Given the description of an element on the screen output the (x, y) to click on. 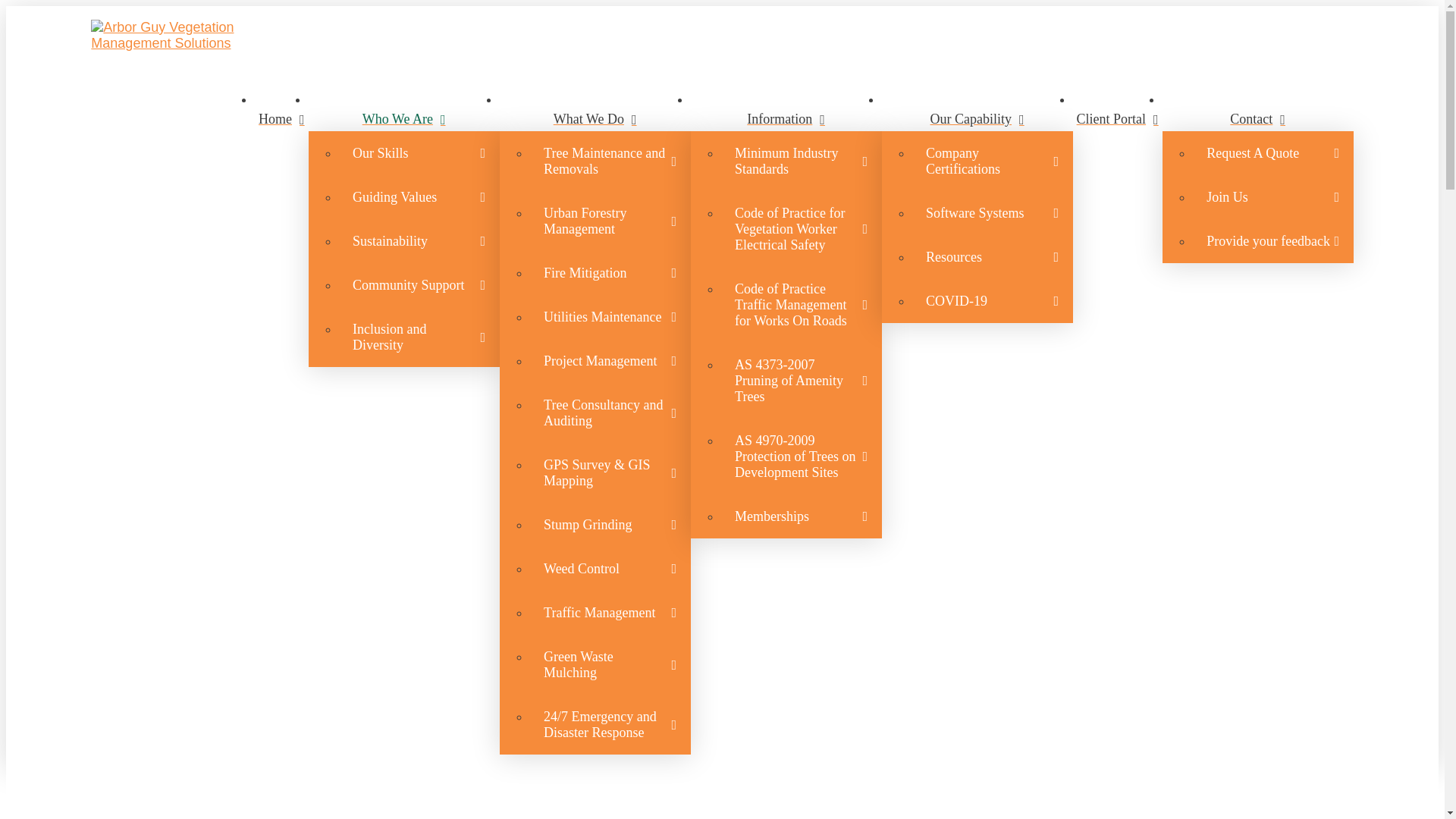
COVID-19 (992, 300)
Minimum Industry Standards (801, 160)
Traffic Management (609, 612)
Tree Maintenance and Removals (609, 160)
Sustainability (419, 240)
AS 4373-2007 Pruning of Amenity Trees (801, 380)
Home (281, 127)
Provide your feedback (1273, 240)
Urban Forestry Management (609, 220)
Join Us (1273, 197)
